Given the description of an element on the screen output the (x, y) to click on. 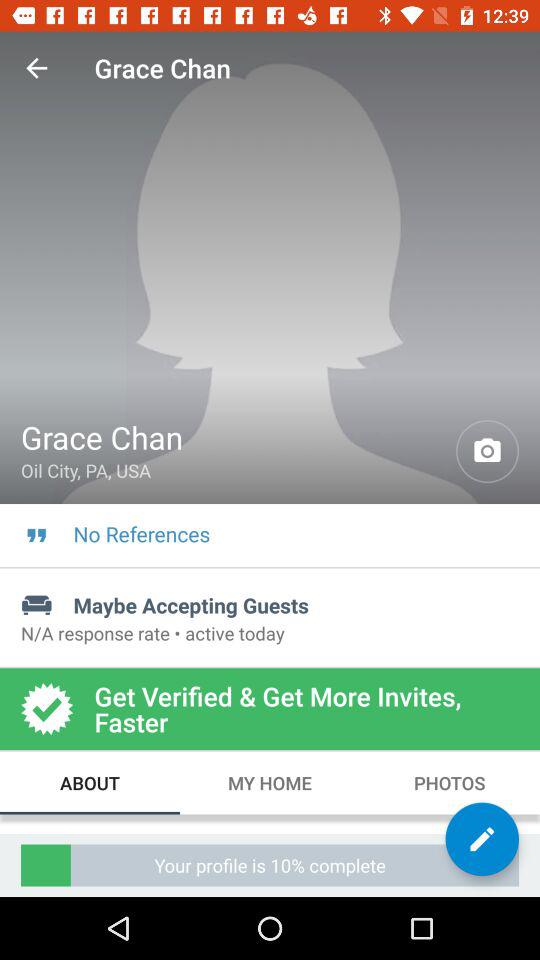
open camera (487, 451)
